Given the description of an element on the screen output the (x, y) to click on. 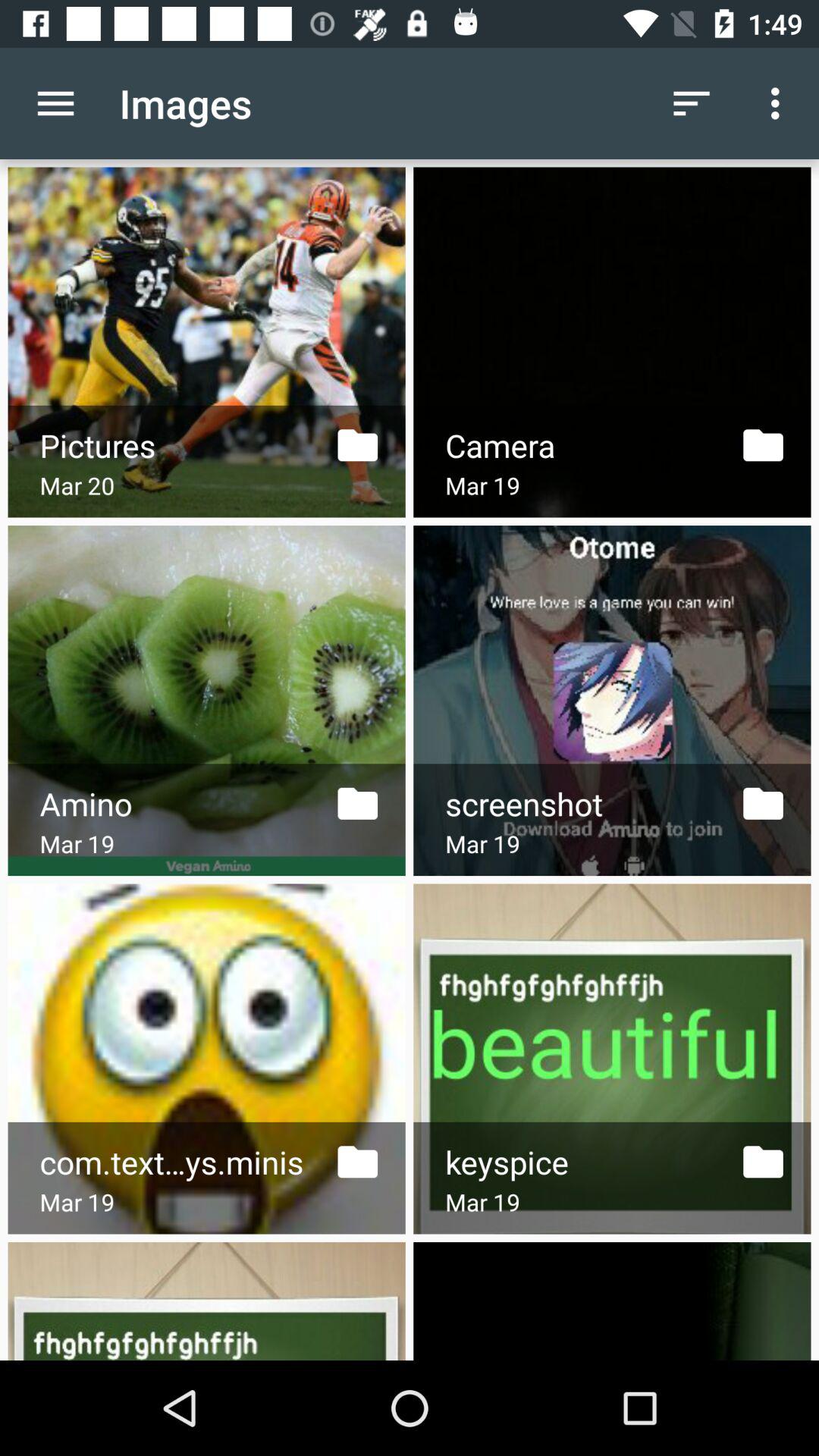
turn on the app next to images (691, 103)
